Given the description of an element on the screen output the (x, y) to click on. 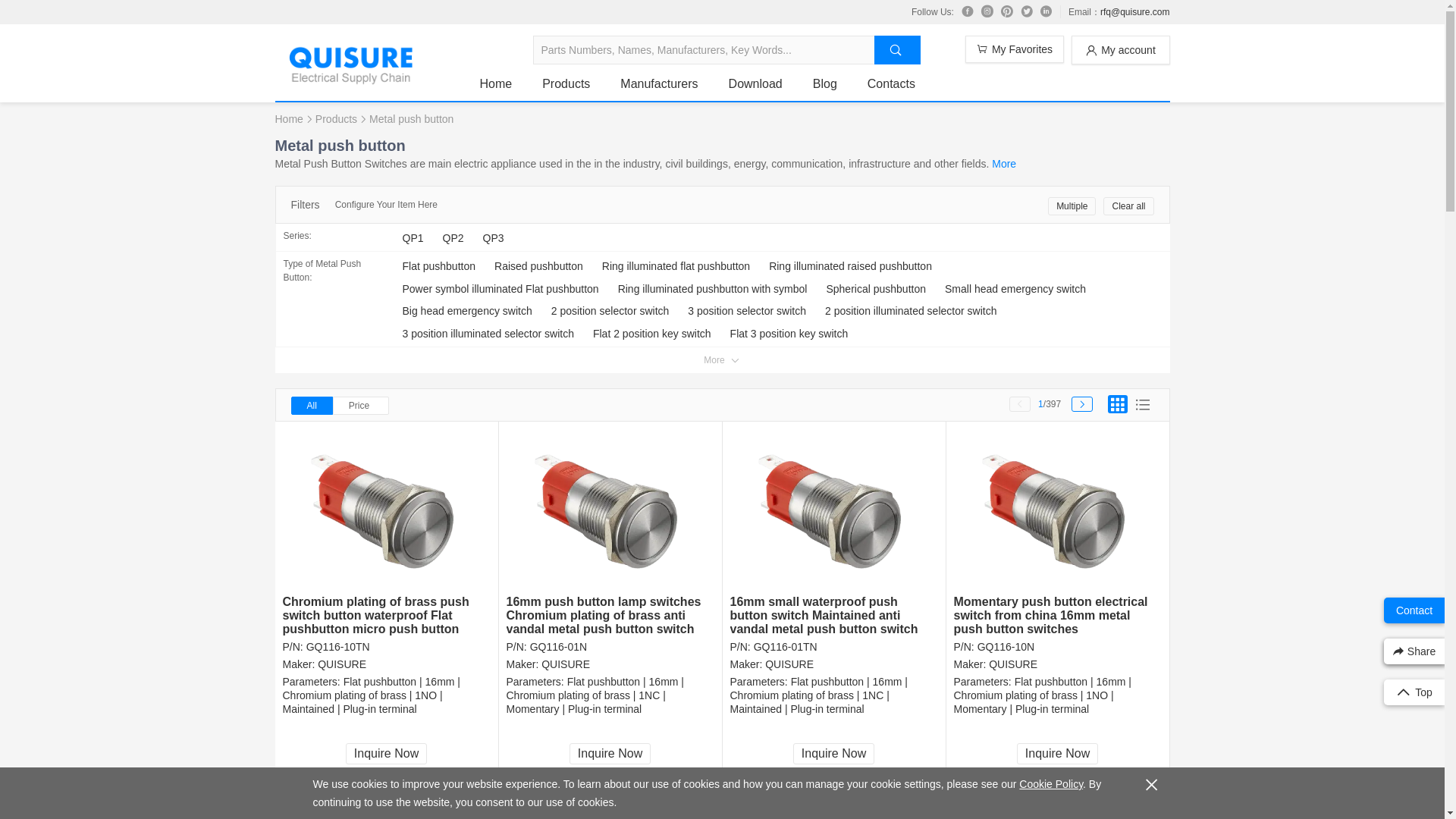
Manufacturers (658, 83)
Quisure (350, 78)
Big head emergency switch (466, 310)
facebook (967, 11)
Products (335, 118)
pinterest (1007, 11)
Flat 2 position key switch (651, 333)
Clear all (1128, 206)
linkedin (1046, 11)
Home (495, 83)
Products (335, 118)
3 position illuminated selector switch (487, 333)
products (565, 83)
Spherical pushbutton (875, 288)
Blog (824, 83)
